Given the description of an element on the screen output the (x, y) to click on. 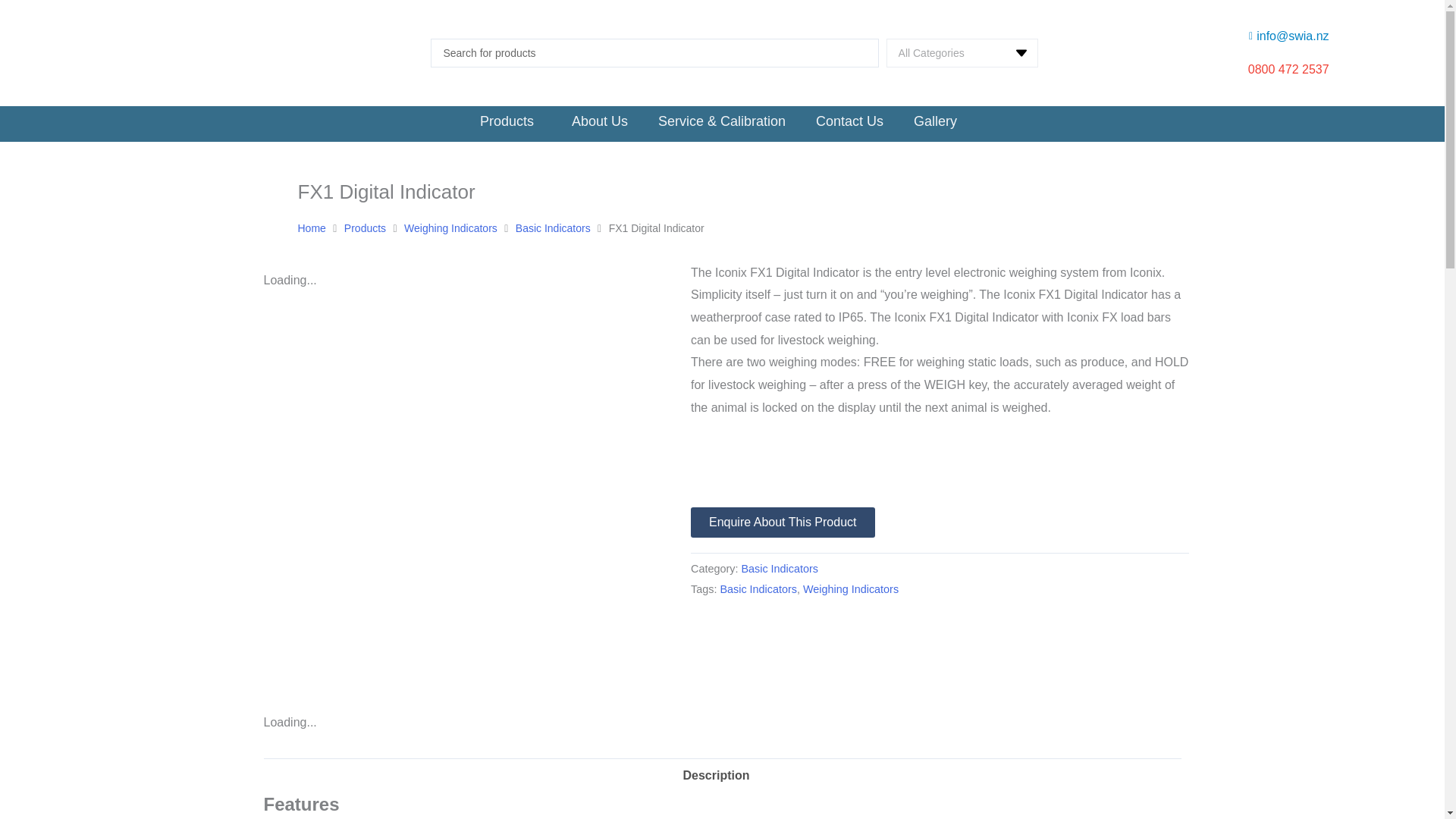
Basic Indicators (553, 229)
Home (310, 229)
Weighing Indicators (450, 229)
Products (364, 229)
